Given the description of an element on the screen output the (x, y) to click on. 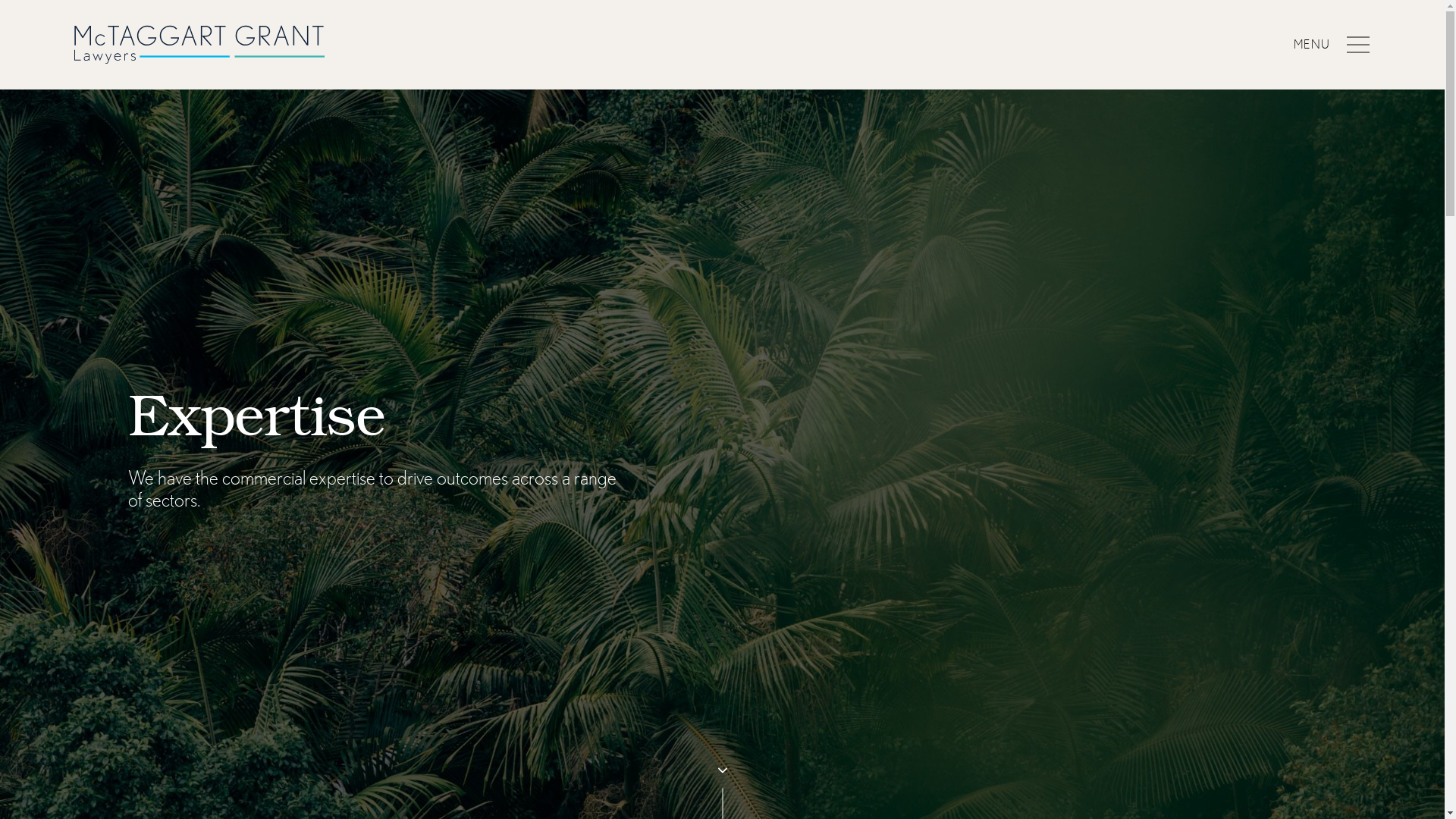
MENU Element type: text (1331, 44)
